Given the description of an element on the screen output the (x, y) to click on. 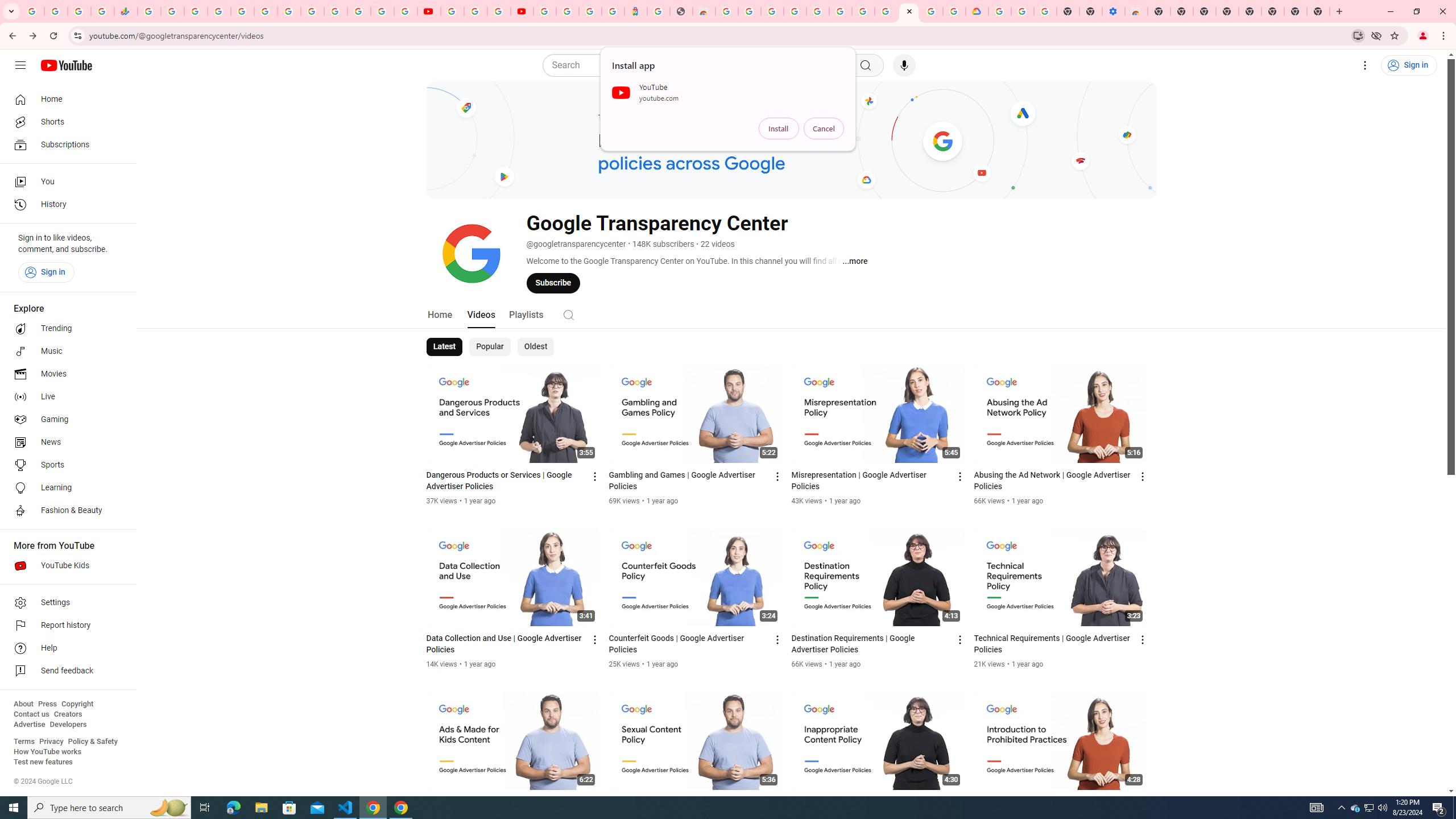
Turn cookies on or off - Computer - Google Account Help (1045, 11)
